Given the description of an element on the screen output the (x, y) to click on. 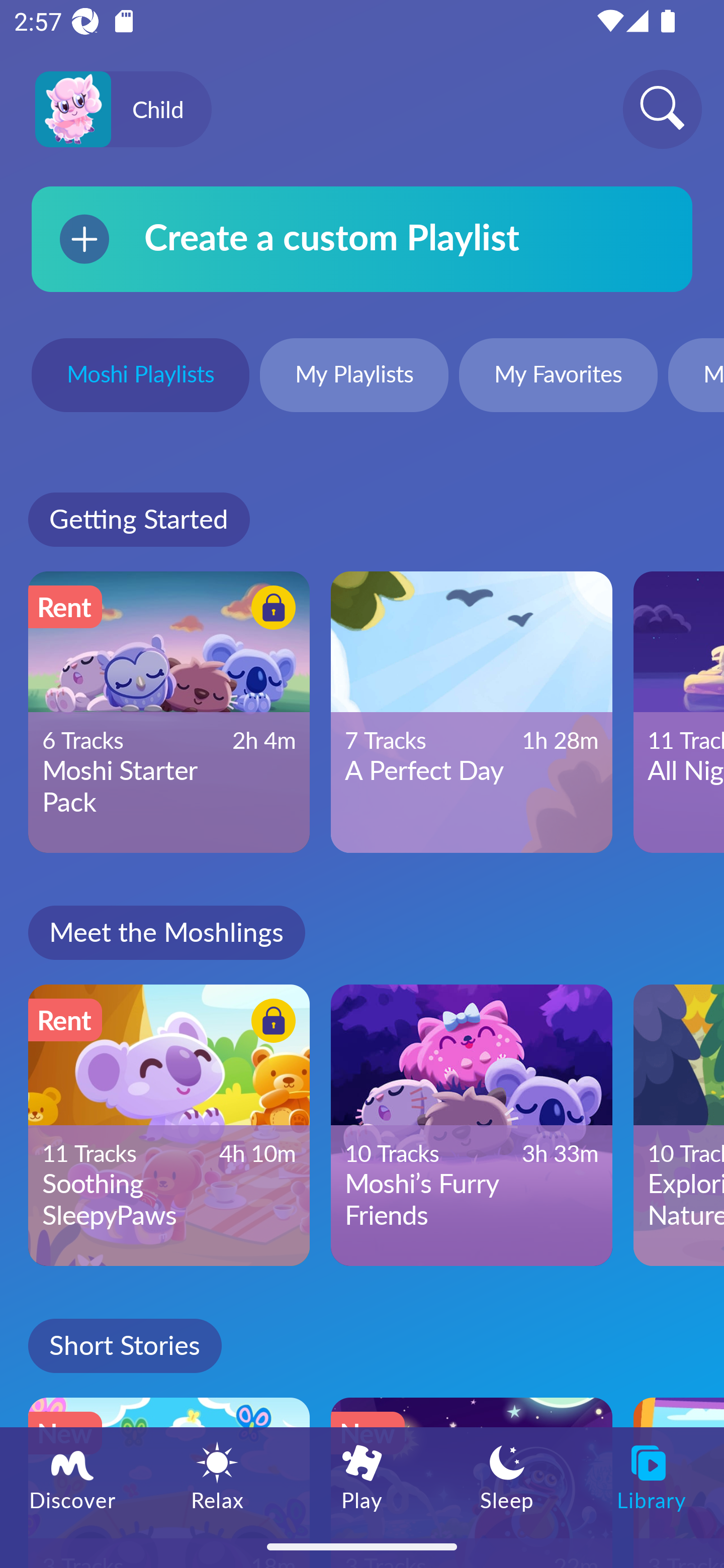
Profile icon Child (123, 109)
Create a custom Playlist (361, 238)
Moshi Playlists (140, 377)
My Playlists (353, 377)
My Favorites (558, 377)
Button (269, 609)
Featured Content 7 Tracks A Perfect Day 1h 28m (471, 711)
Button (269, 1023)
Discover (72, 1475)
Relax (216, 1475)
Play (361, 1475)
Sleep (506, 1475)
